Given the description of an element on the screen output the (x, y) to click on. 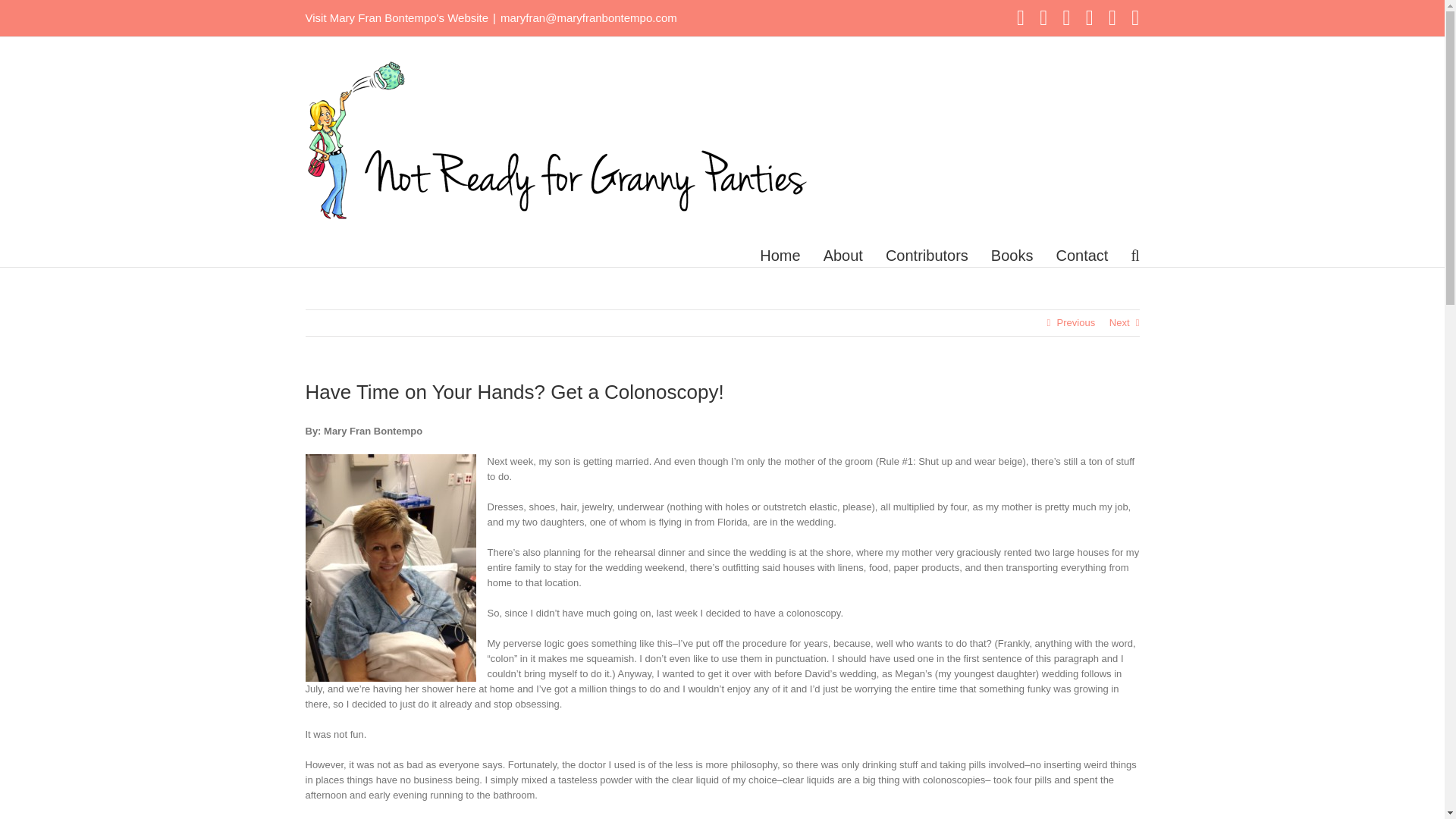
Visit Mary Fran Bontempo's Website (395, 17)
Contributors (926, 255)
Books (1012, 255)
Home (779, 255)
Contact (1081, 255)
About (843, 255)
Previous (1076, 322)
